Given the description of an element on the screen output the (x, y) to click on. 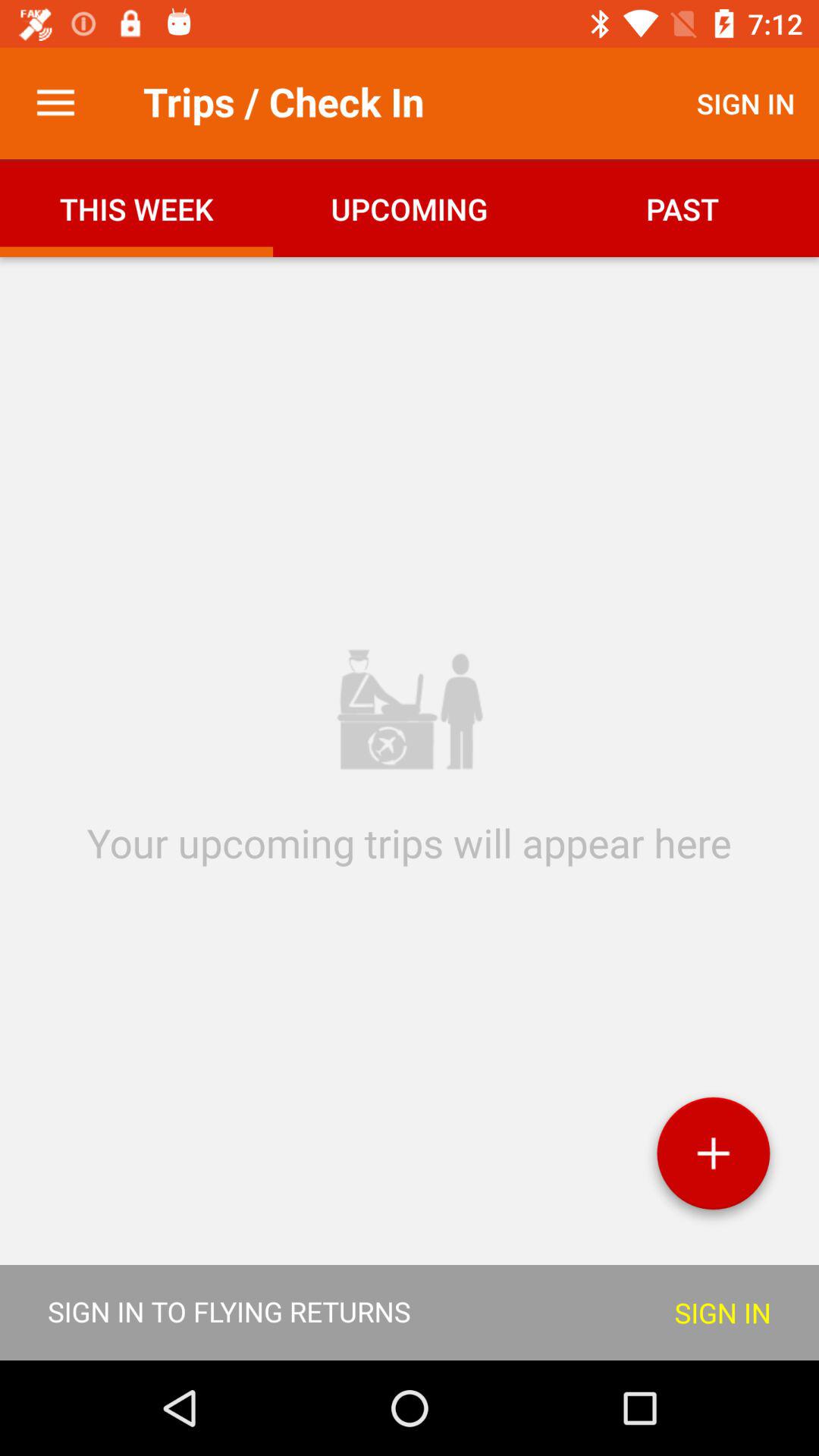
option to add trip (713, 1159)
